Given the description of an element on the screen output the (x, y) to click on. 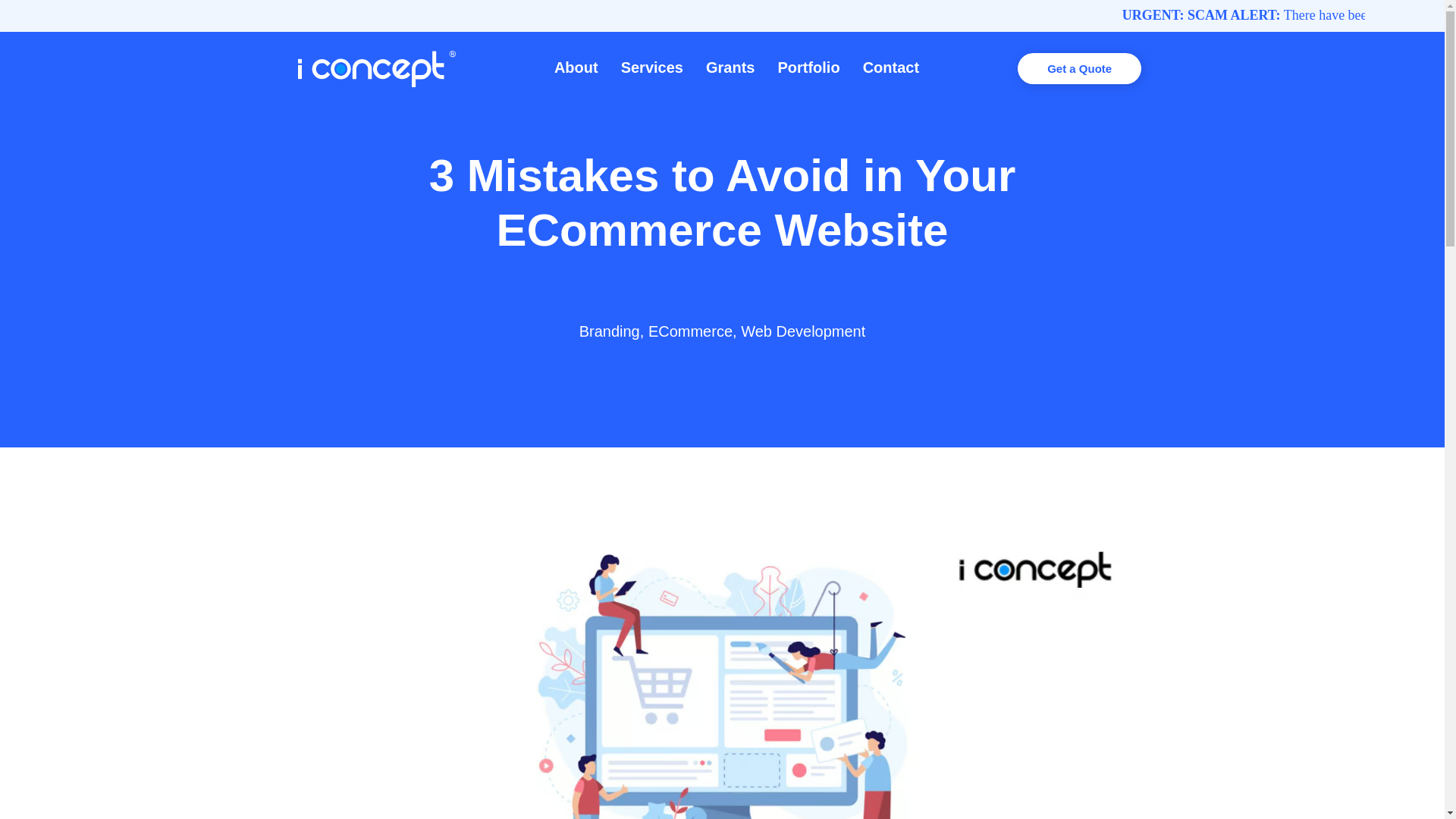
Grants (729, 67)
Services (652, 67)
About (576, 67)
Get a Quote (1078, 68)
Portfolio (807, 67)
Contact (890, 67)
